Given the description of an element on the screen output the (x, y) to click on. 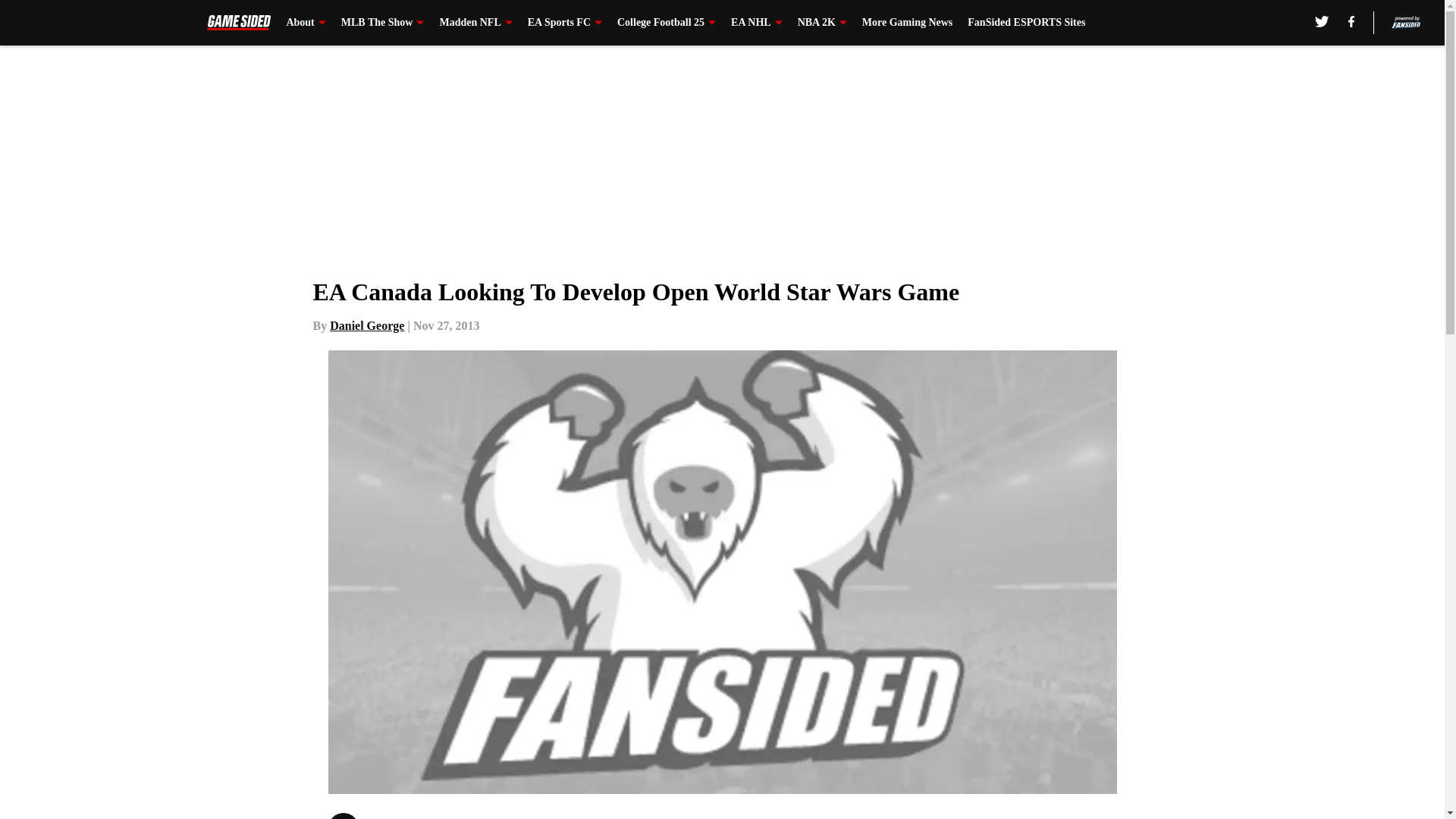
over at Kotaku (118, 6)
Daniel George (367, 325)
over at Kotaku (272, 6)
FanSided ESPORTS Sites (1026, 22)
More Gaming News (907, 22)
